Given the description of an element on the screen output the (x, y) to click on. 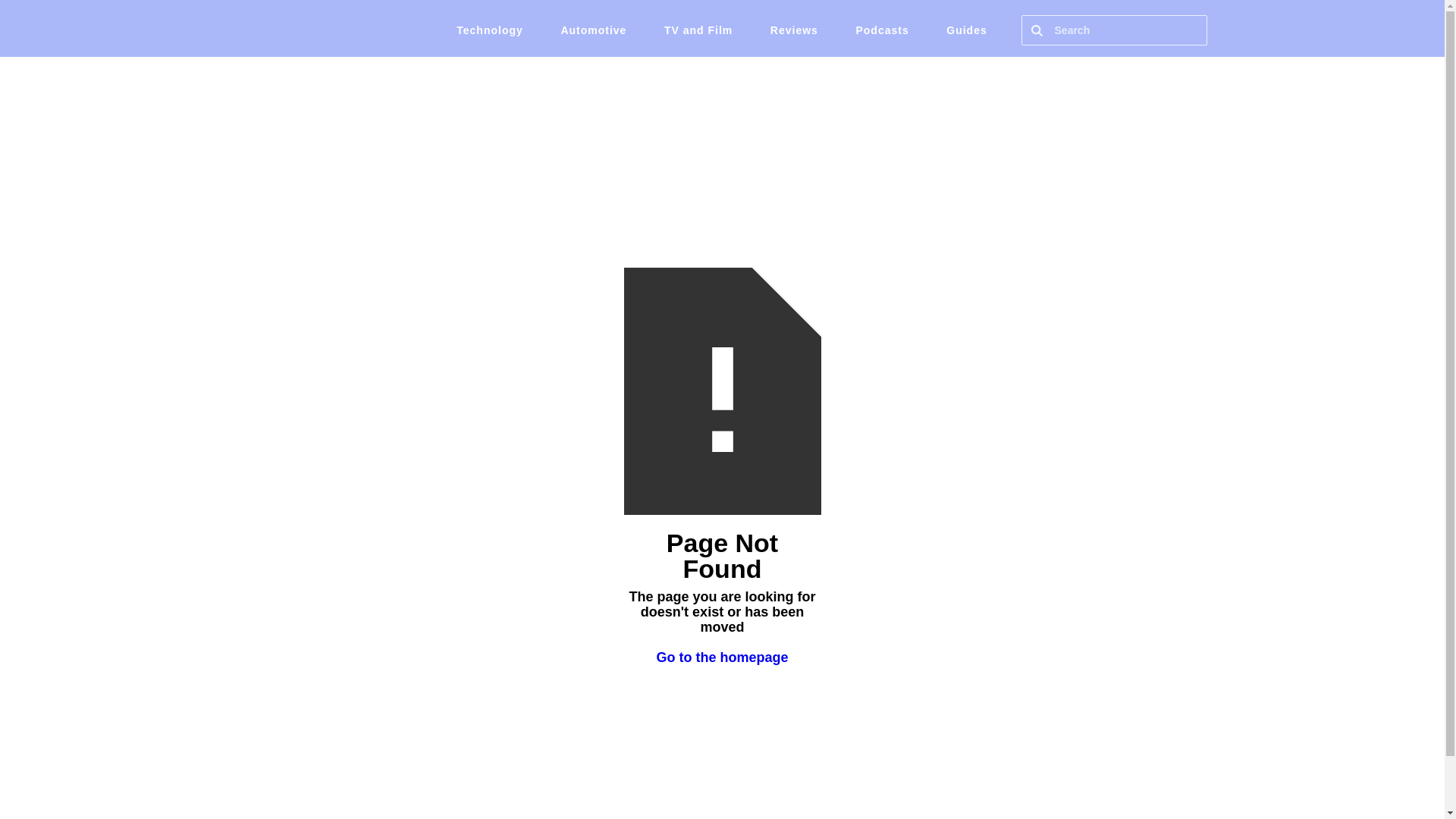
Reviews (793, 29)
Automotive (593, 29)
Technology (489, 29)
Go to the homepage (721, 657)
TV and Film (698, 29)
Guides (966, 29)
Podcasts (881, 29)
